Given the description of an element on the screen output the (x, y) to click on. 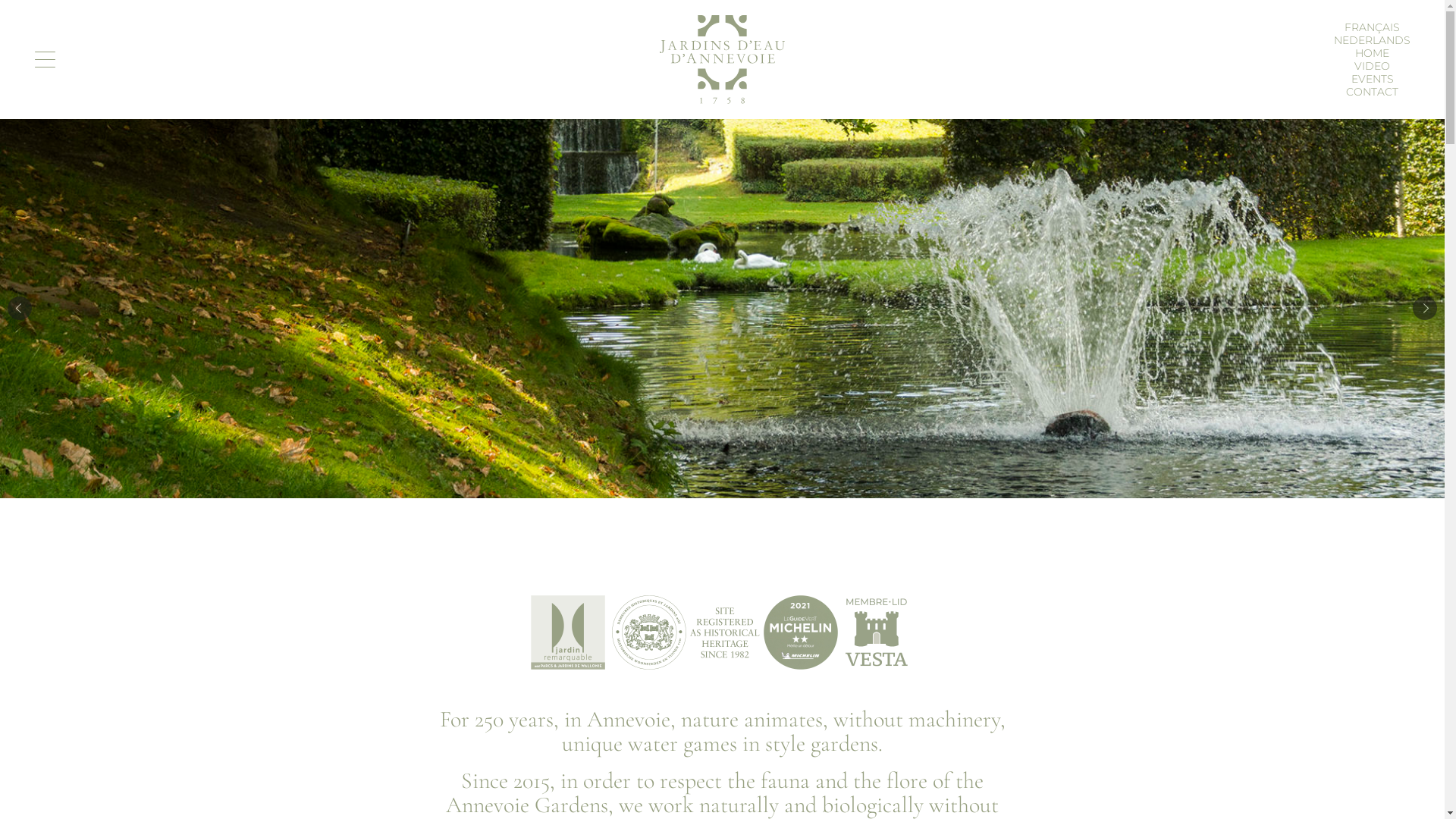
NEDERLANDS Element type: text (1371, 40)
CONTACT Element type: text (1372, 91)
EVENTS Element type: text (1372, 77)
Toggle navigation Element type: text (45, 59)
HOME Element type: text (1372, 52)
Prev Element type: text (19, 308)
VIDEO Element type: text (1372, 65)
Next Element type: text (1424, 308)
